Given the description of an element on the screen output the (x, y) to click on. 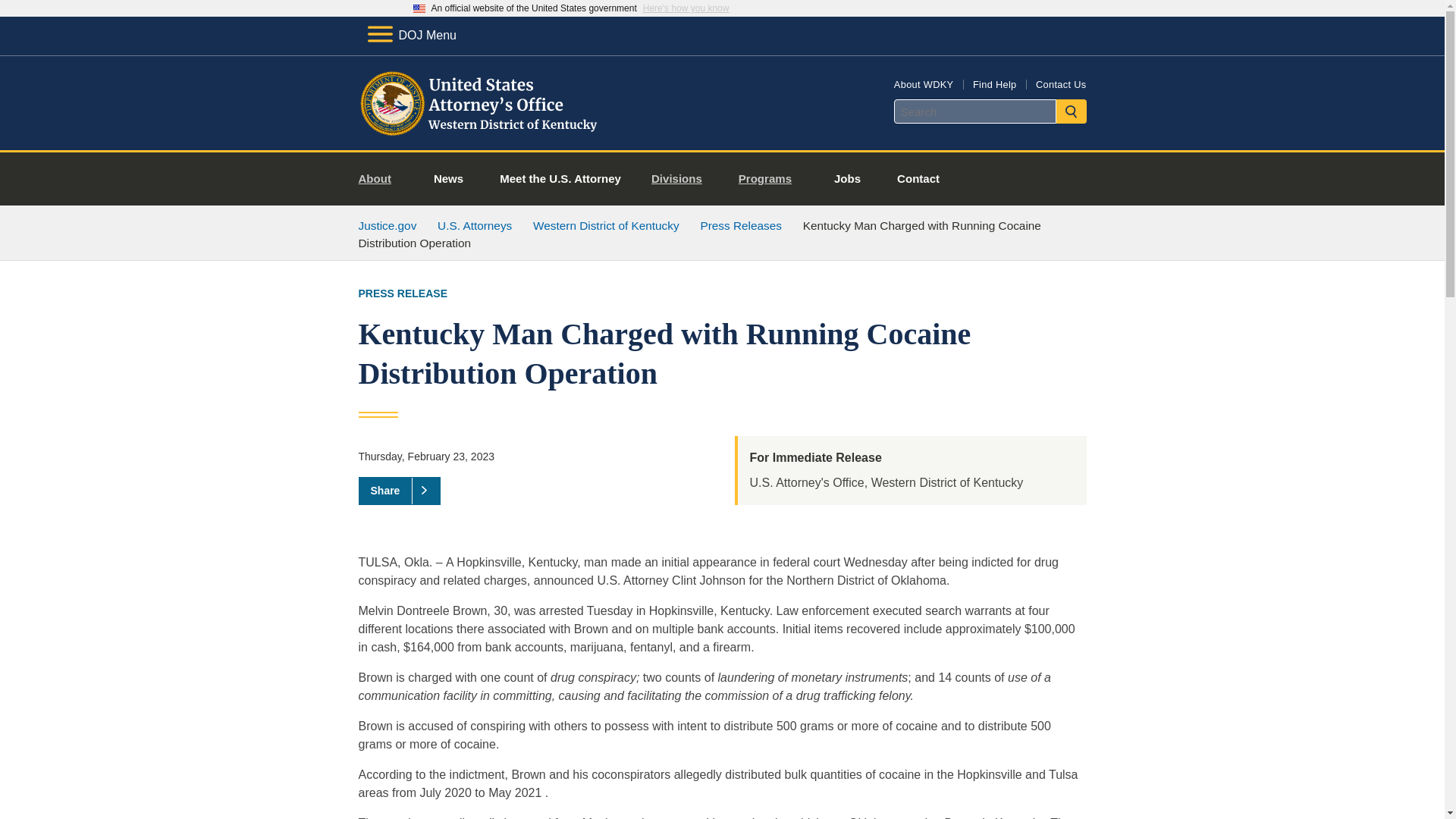
About (380, 179)
Home (481, 132)
Here's how you know (686, 8)
U.S. Attorneys (475, 225)
Contact Us (1060, 84)
About WDKY (923, 84)
Press Releases (740, 225)
Meet the U.S. Attorney (560, 179)
Find Help (994, 84)
Western District of Kentucky (605, 225)
